Given the description of an element on the screen output the (x, y) to click on. 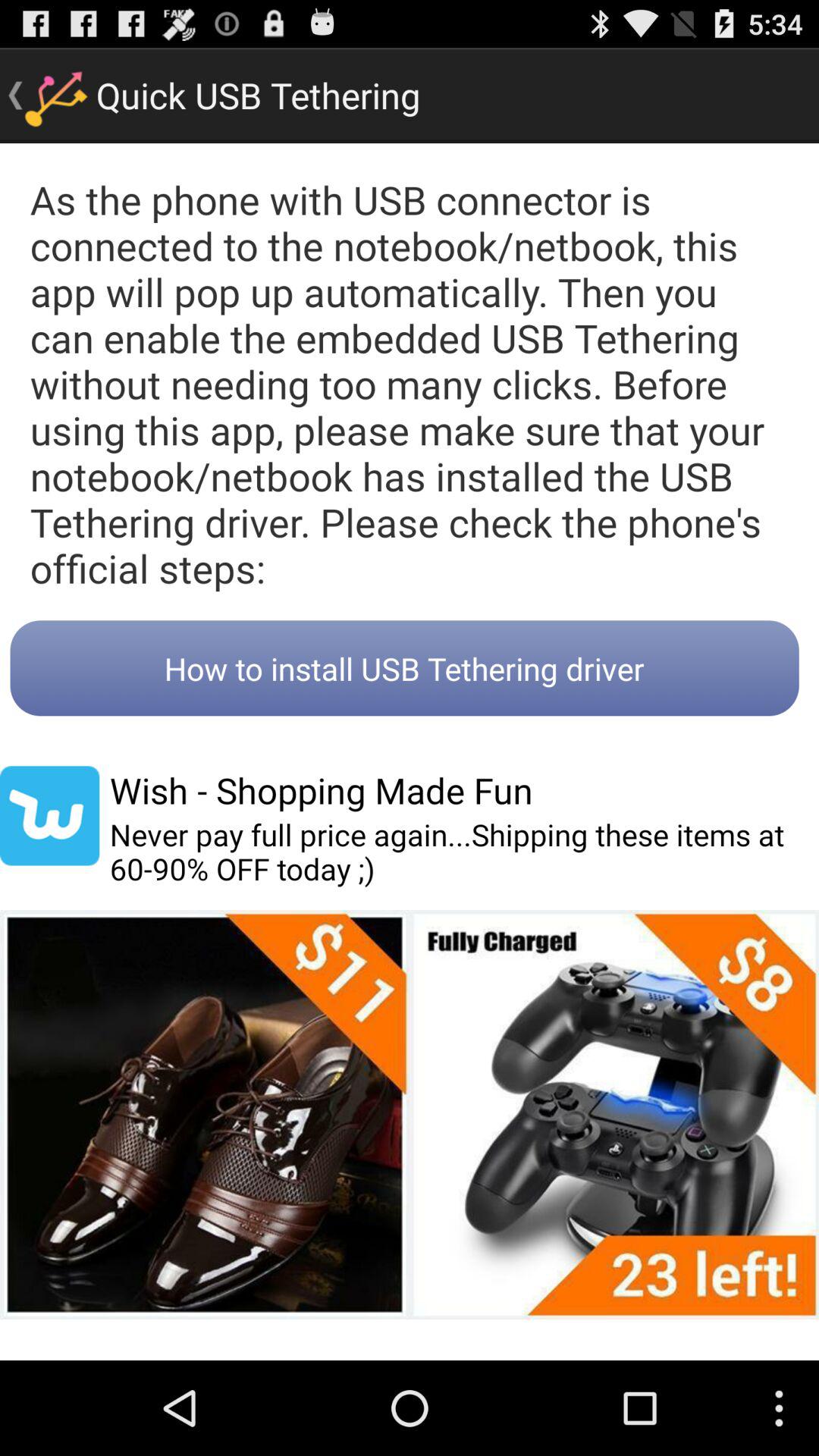
choose the icon next to the wish shopping made app (49, 815)
